Given the description of an element on the screen output the (x, y) to click on. 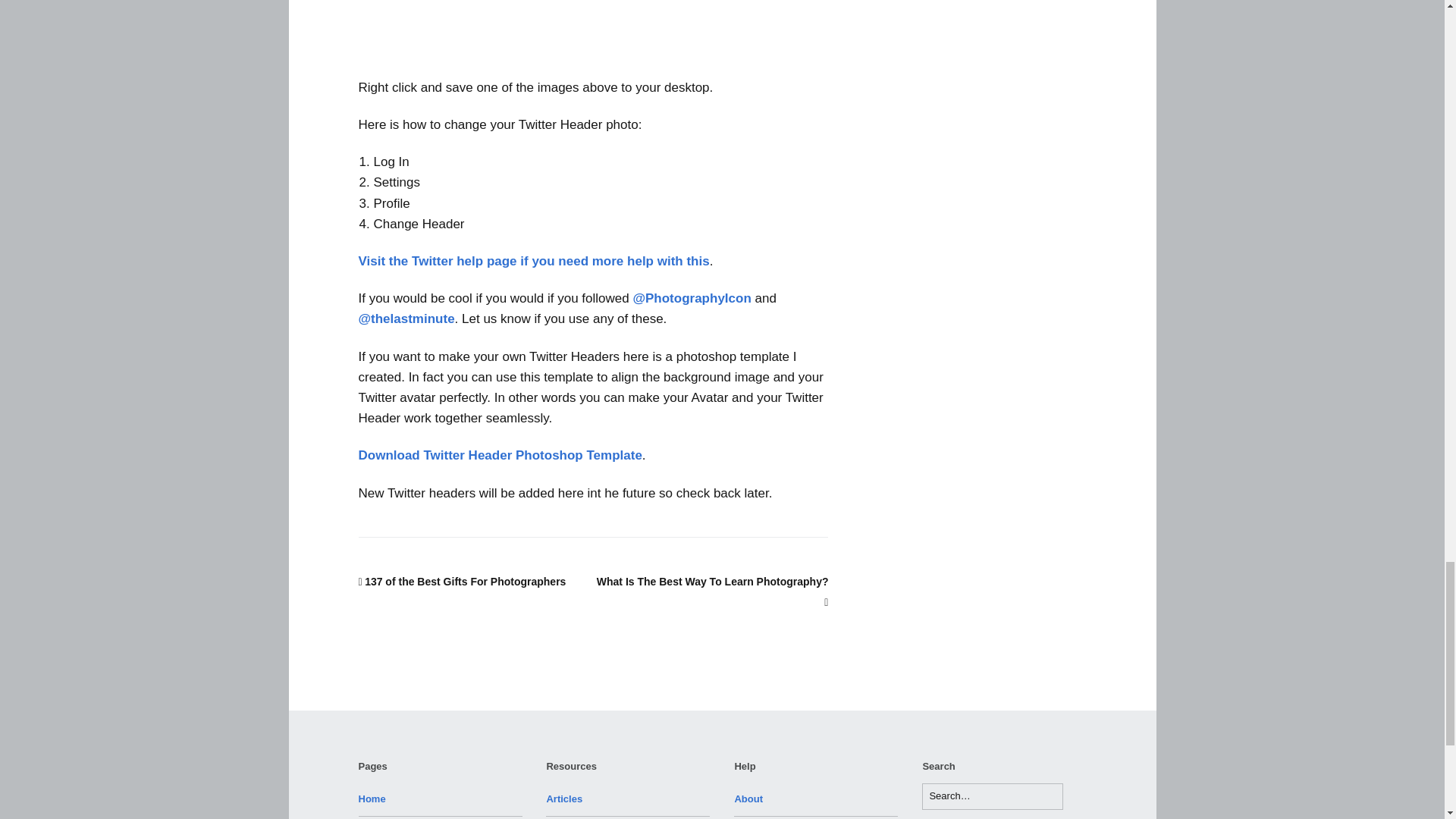
Visit the Twitter help page if you need more help with this (533, 260)
137 of the Best Gifts For Photographers (462, 581)
What Is The Best Way To Learn Photography? (712, 591)
Download Twitter Header Photoshop Template (500, 454)
Home (371, 798)
